Given the description of an element on the screen output the (x, y) to click on. 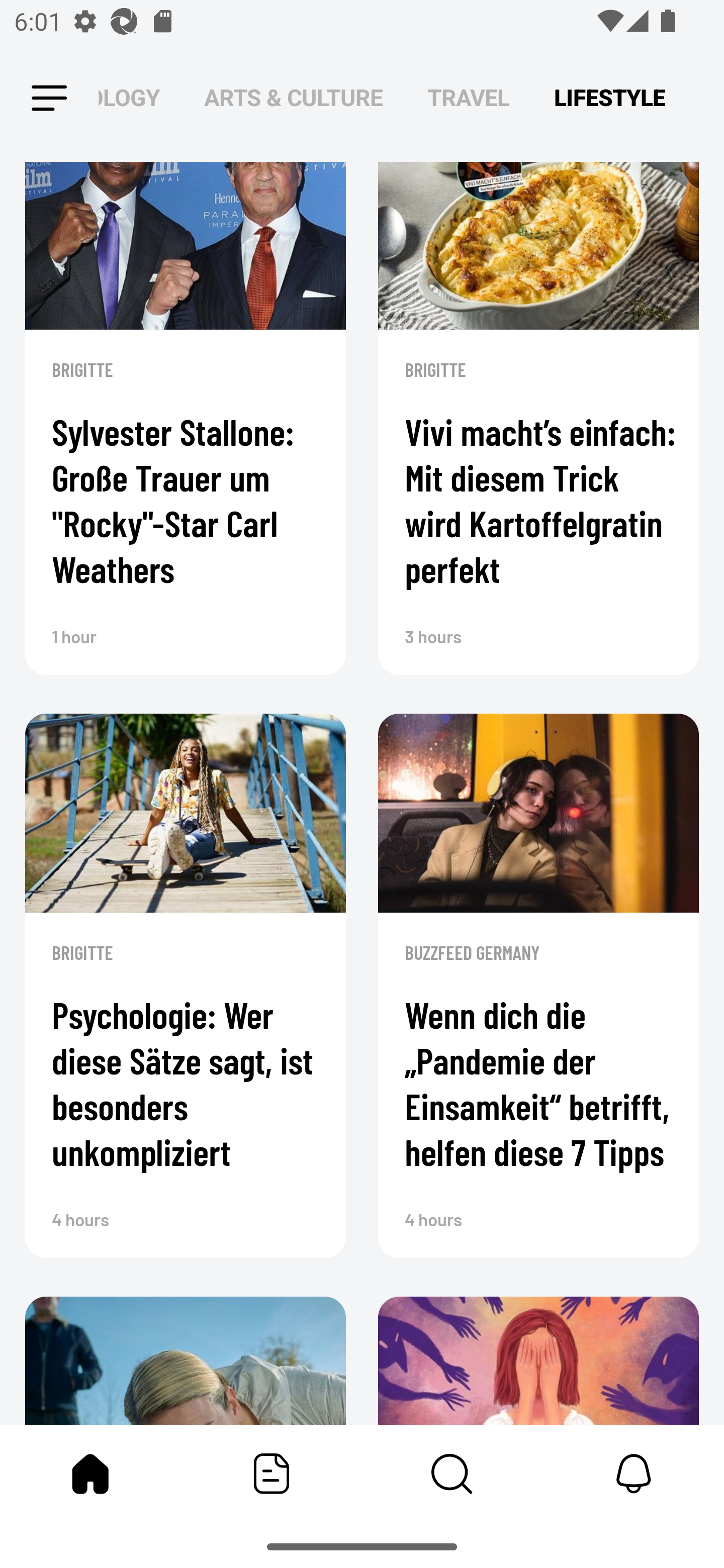
Leading Icon (49, 98)
TECHNOLOGY (129, 97)
ARTS & CULTURE (293, 97)
TRAVEL (468, 97)
Featured (271, 1473)
Content Store (452, 1473)
Notifications (633, 1473)
